Given the description of an element on the screen output the (x, y) to click on. 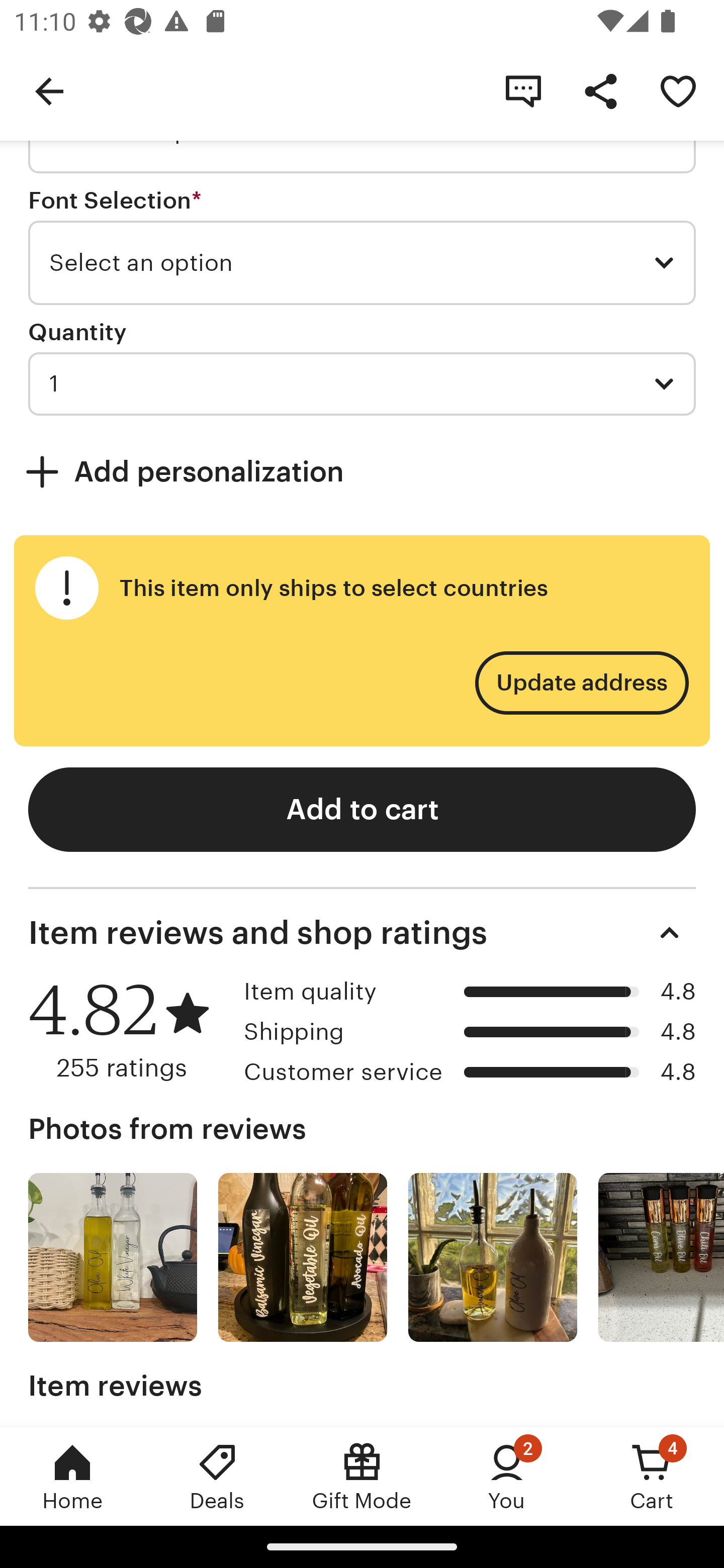
Navigate up (49, 90)
Contact shop (523, 90)
Share (600, 90)
Font Selection * Required Select an option (361, 246)
Select an option (361, 263)
Quantity (77, 331)
1 (361, 383)
Add personalization Add personalization Required (362, 471)
Update address (581, 682)
Add to cart (361, 808)
Item reviews and shop ratings (362, 932)
4.82 255 ratings (128, 1029)
Photo from review (112, 1257)
Photo from review (302, 1257)
Photo from review (492, 1257)
Photo from review (661, 1257)
Deals (216, 1475)
Gift Mode (361, 1475)
You, 2 new notifications You (506, 1475)
Cart, 4 new notifications Cart (651, 1475)
